Given the description of an element on the screen output the (x, y) to click on. 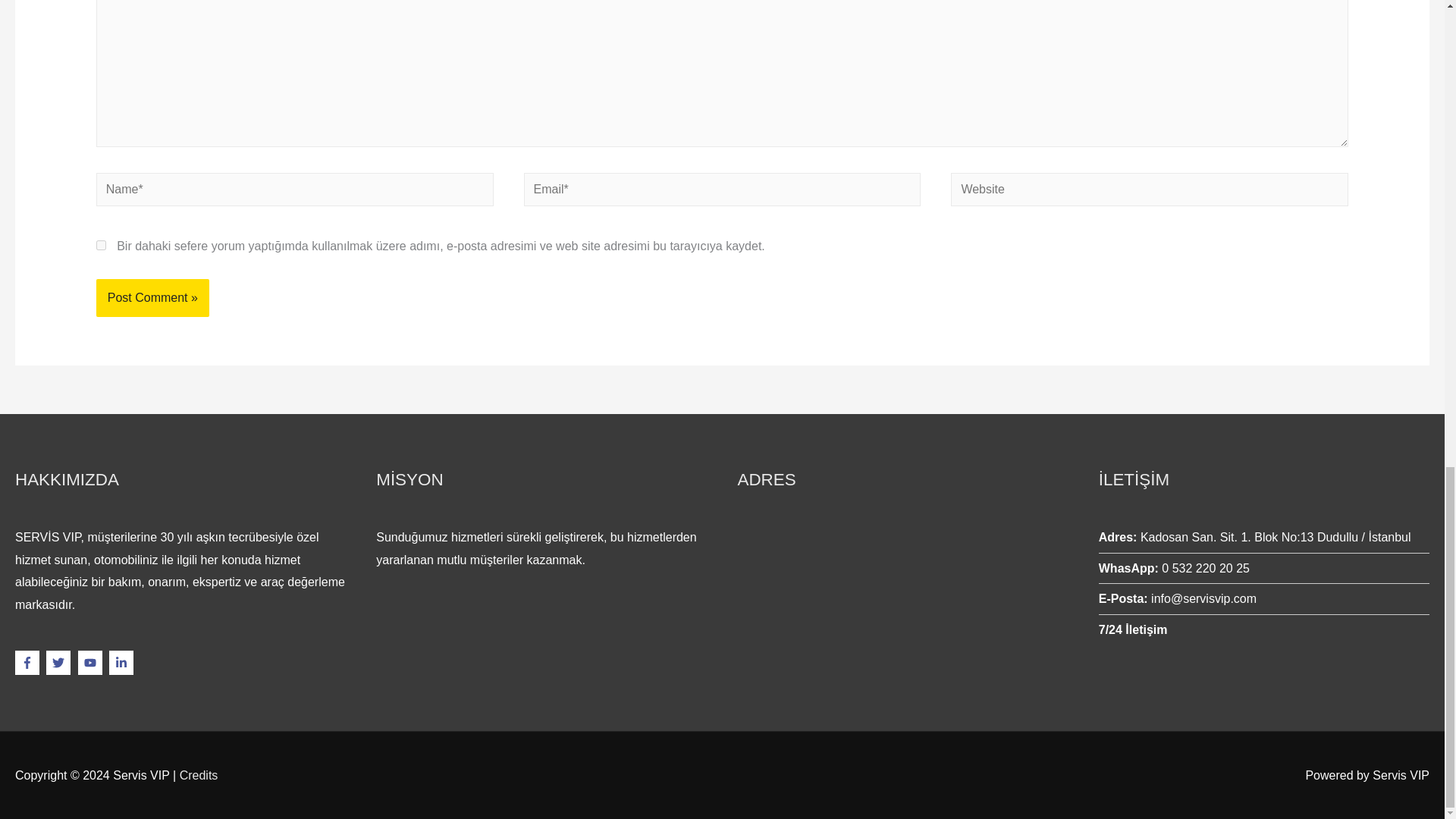
Credits (198, 775)
yes (101, 245)
